Given the description of an element on the screen output the (x, y) to click on. 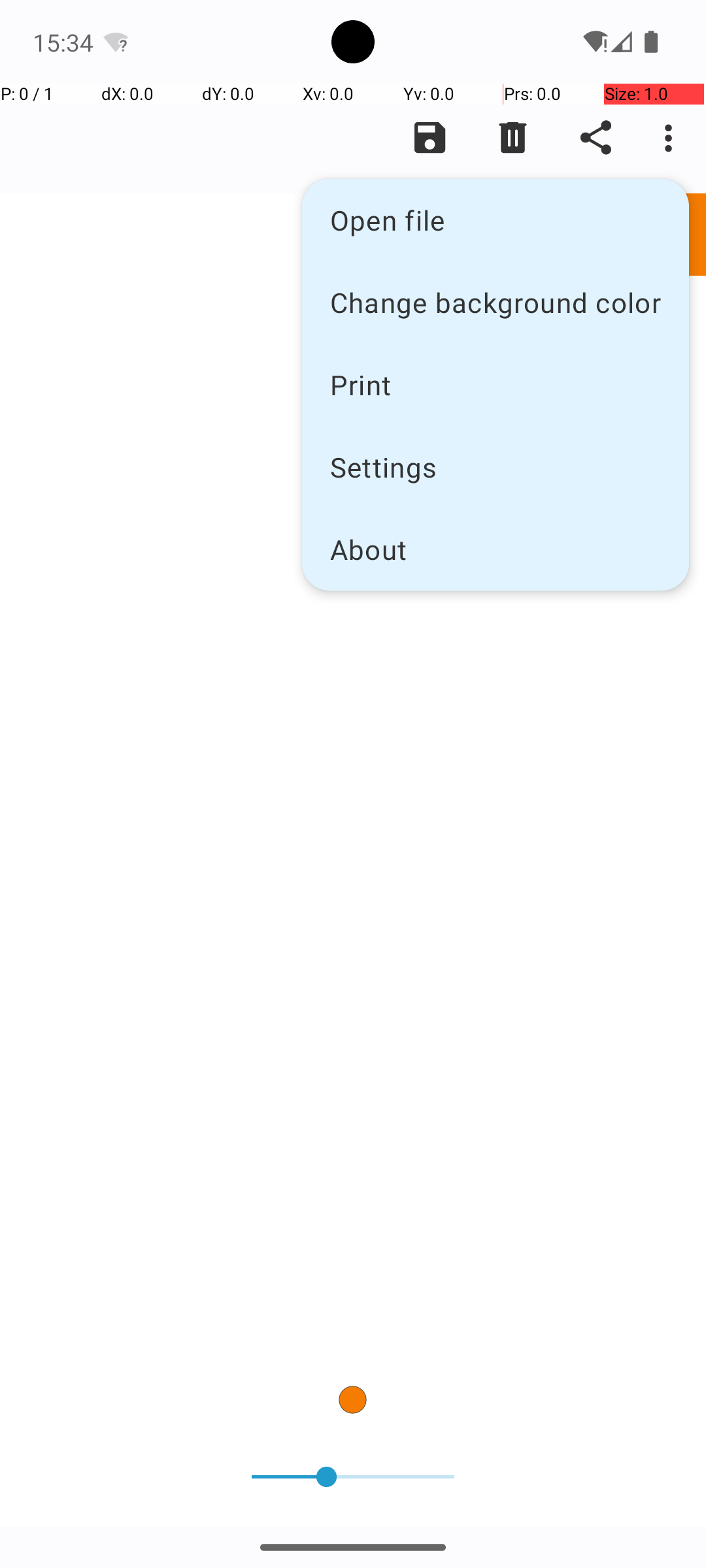
Open file Element type: android.widget.TextView (495, 219)
Change background color Element type: android.widget.TextView (495, 301)
